Given the description of an element on the screen output the (x, y) to click on. 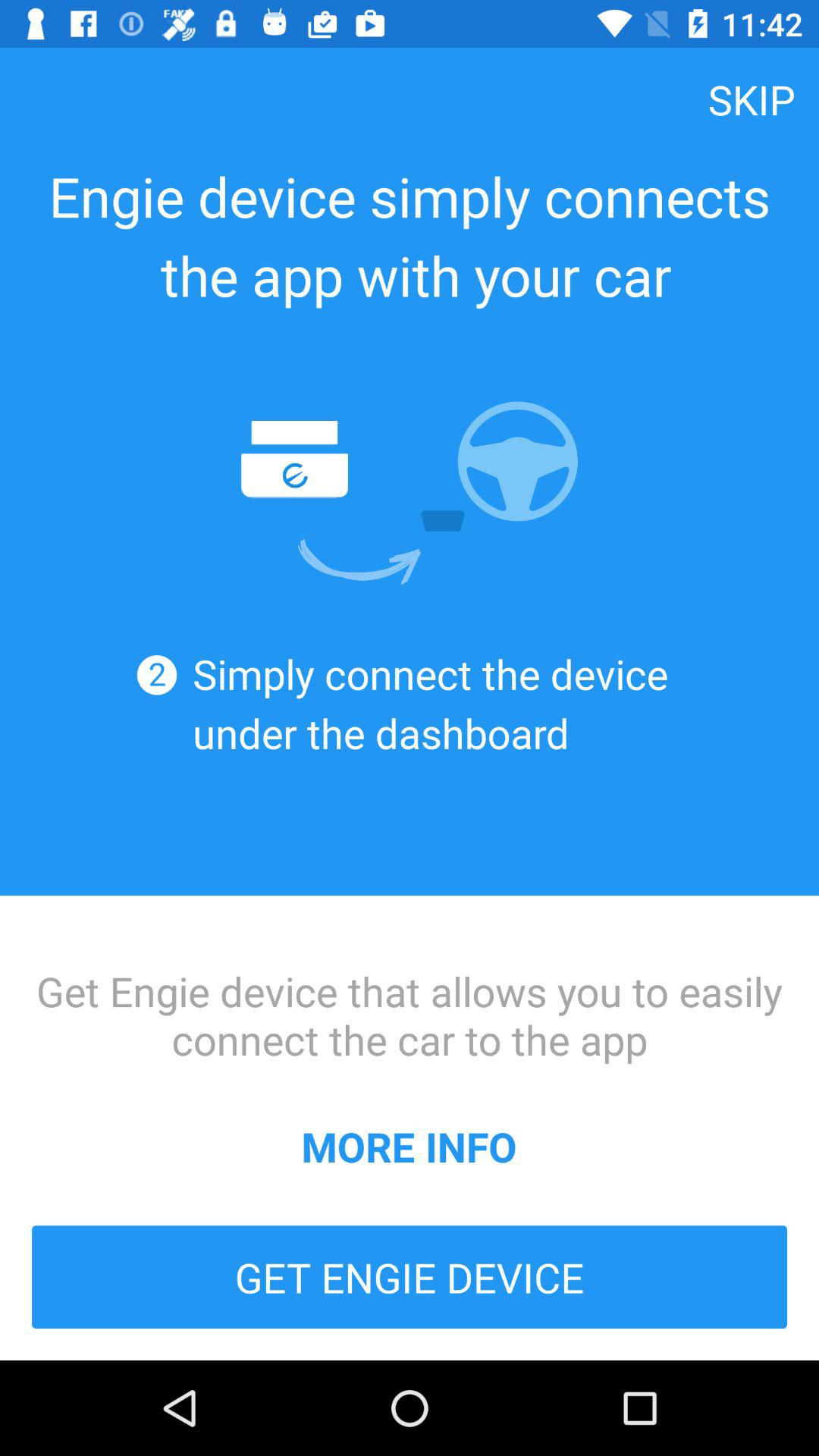
select item above the engie device simply icon (751, 98)
